Given the description of an element on the screen output the (x, y) to click on. 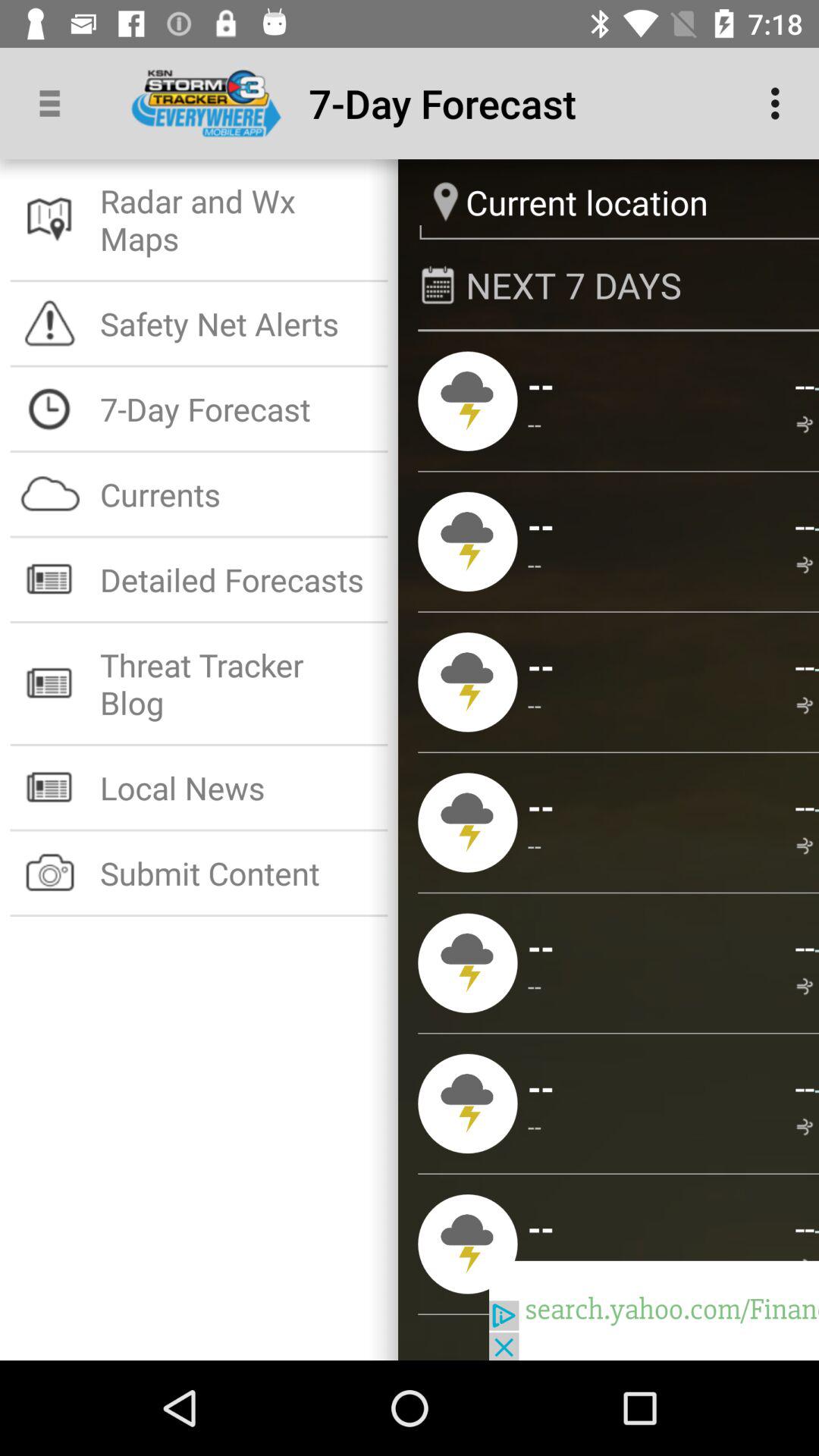
turn off icon above 7-day forecast app (238, 323)
